Given the description of an element on the screen output the (x, y) to click on. 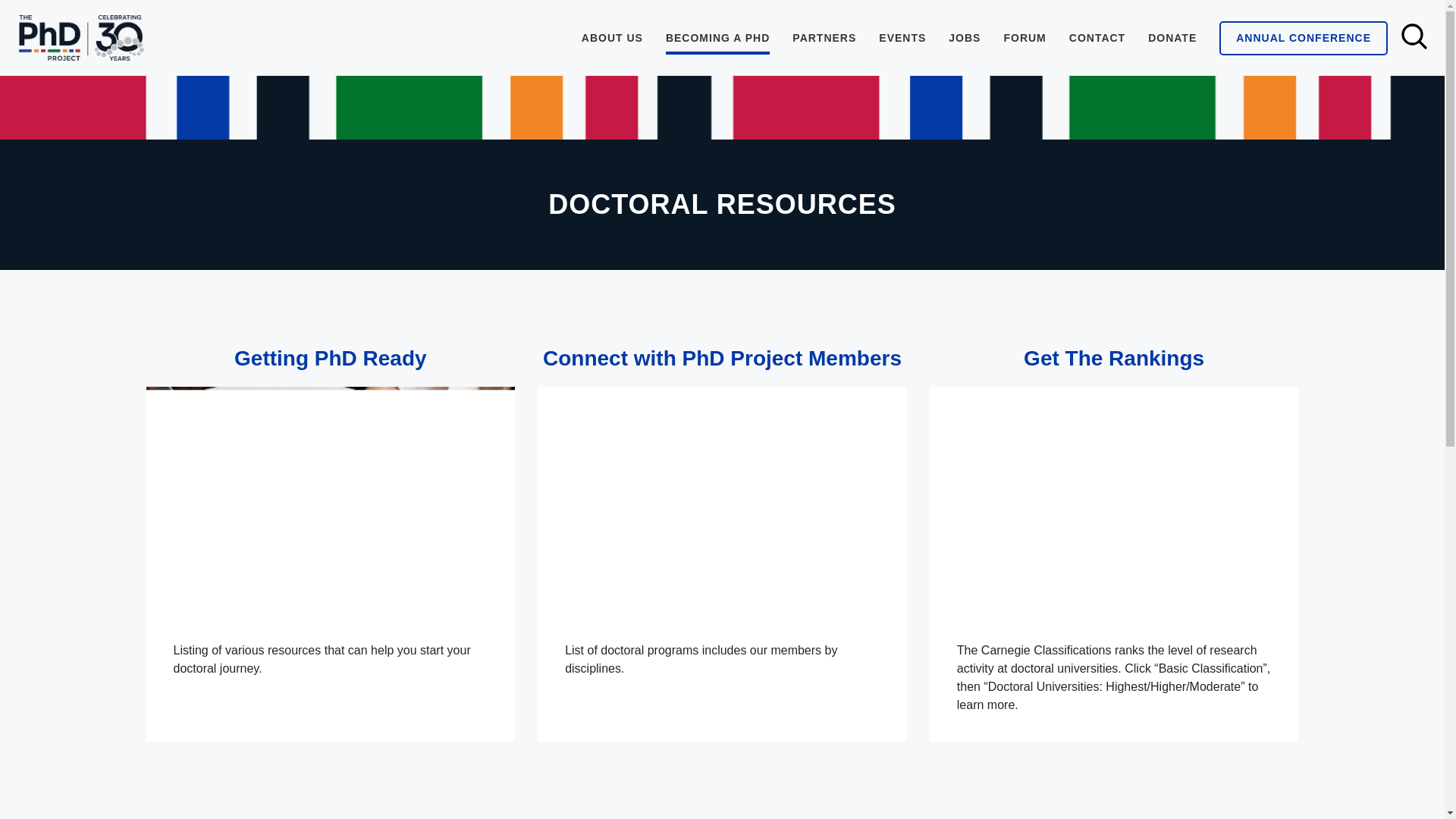
JOBS (964, 37)
PARTNERS (824, 37)
FORUM (1024, 37)
DONATE (330, 810)
ABOUT US (1172, 37)
EVENTS (611, 37)
ANNUAL CONFERENCE (722, 810)
BECOMING A PHD (902, 37)
CONTACT (1303, 37)
